Given the description of an element on the screen output the (x, y) to click on. 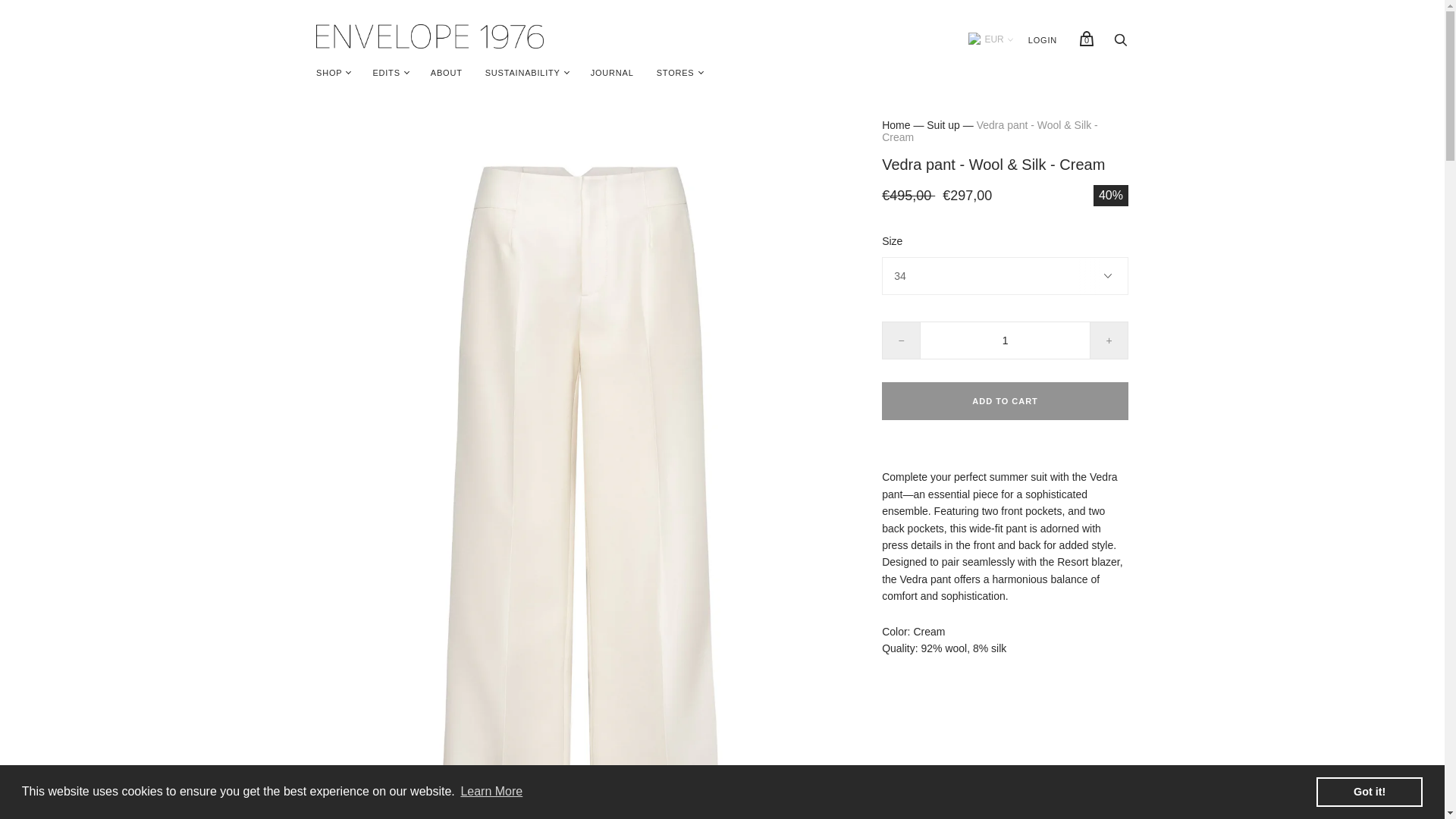
EDITS (385, 72)
SHOP (328, 72)
Got it! (1369, 791)
Home (896, 124)
1 (1005, 340)
Learn More (491, 791)
